Given the description of an element on the screen output the (x, y) to click on. 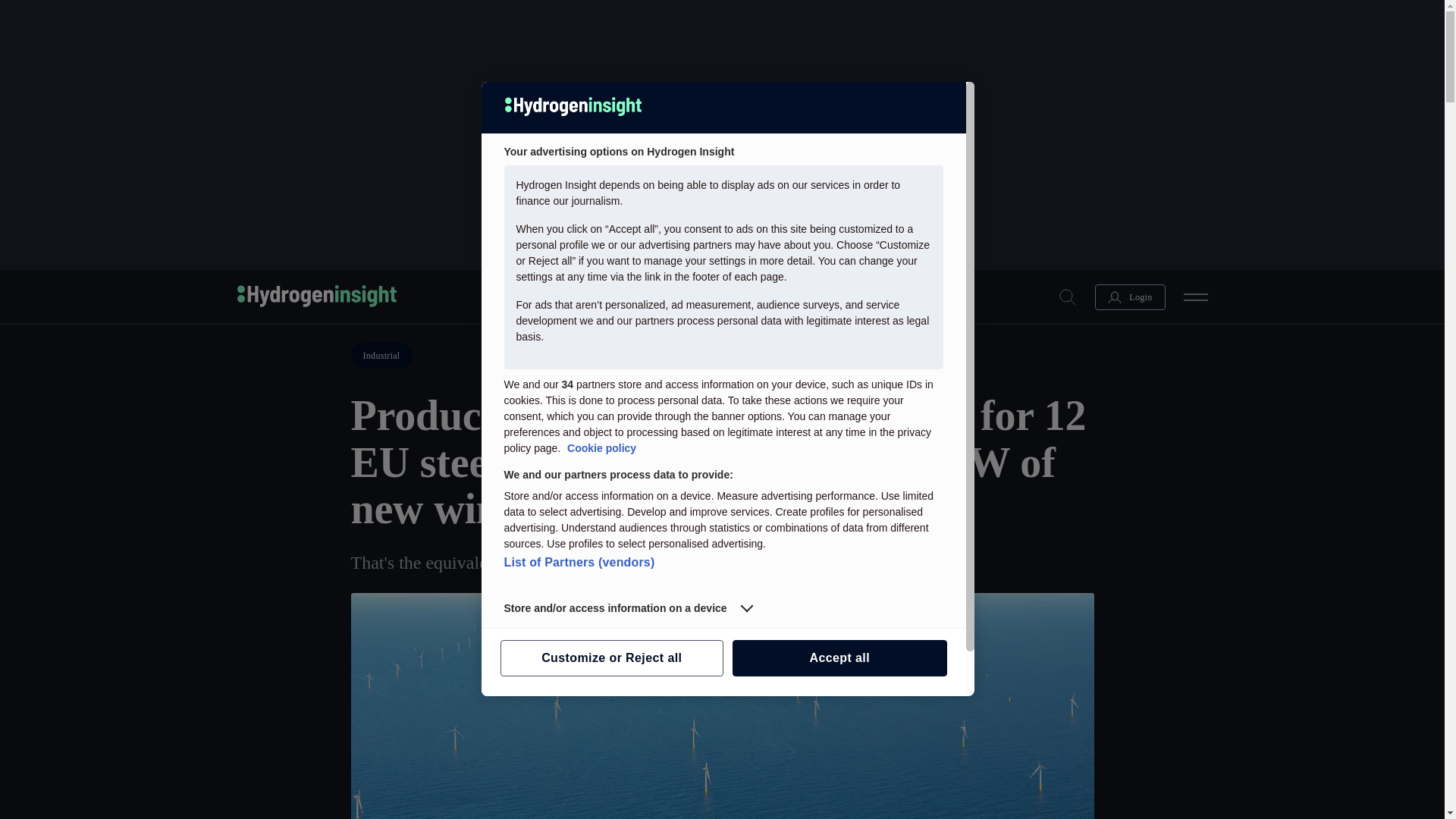
Industrial (381, 355)
Login (1129, 296)
Industrial (381, 355)
Login (1129, 296)
